Given the description of an element on the screen output the (x, y) to click on. 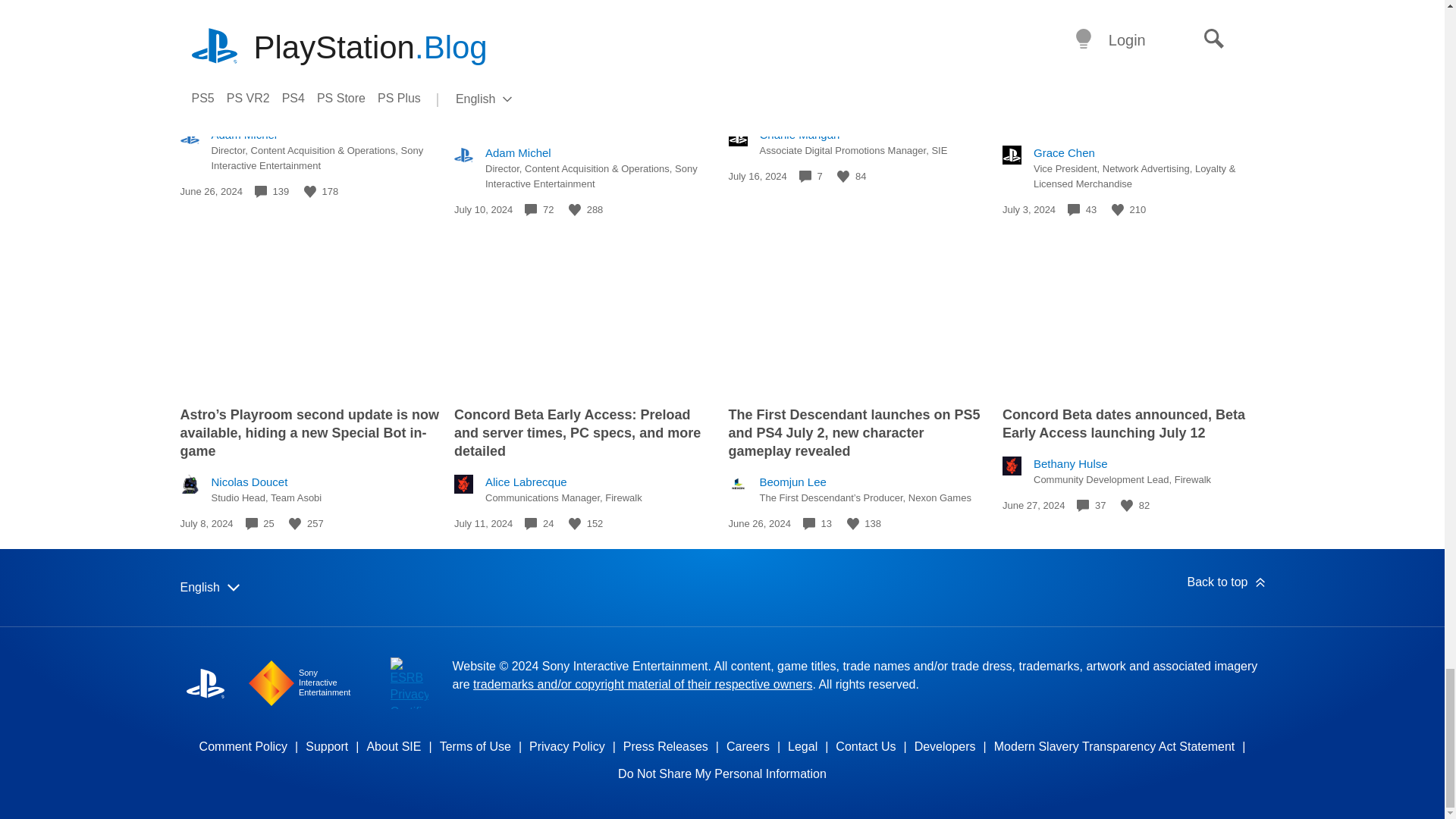
Like this (574, 209)
Like this (1118, 209)
Like this (294, 523)
Like this (309, 191)
Like this (842, 176)
